Given the description of an element on the screen output the (x, y) to click on. 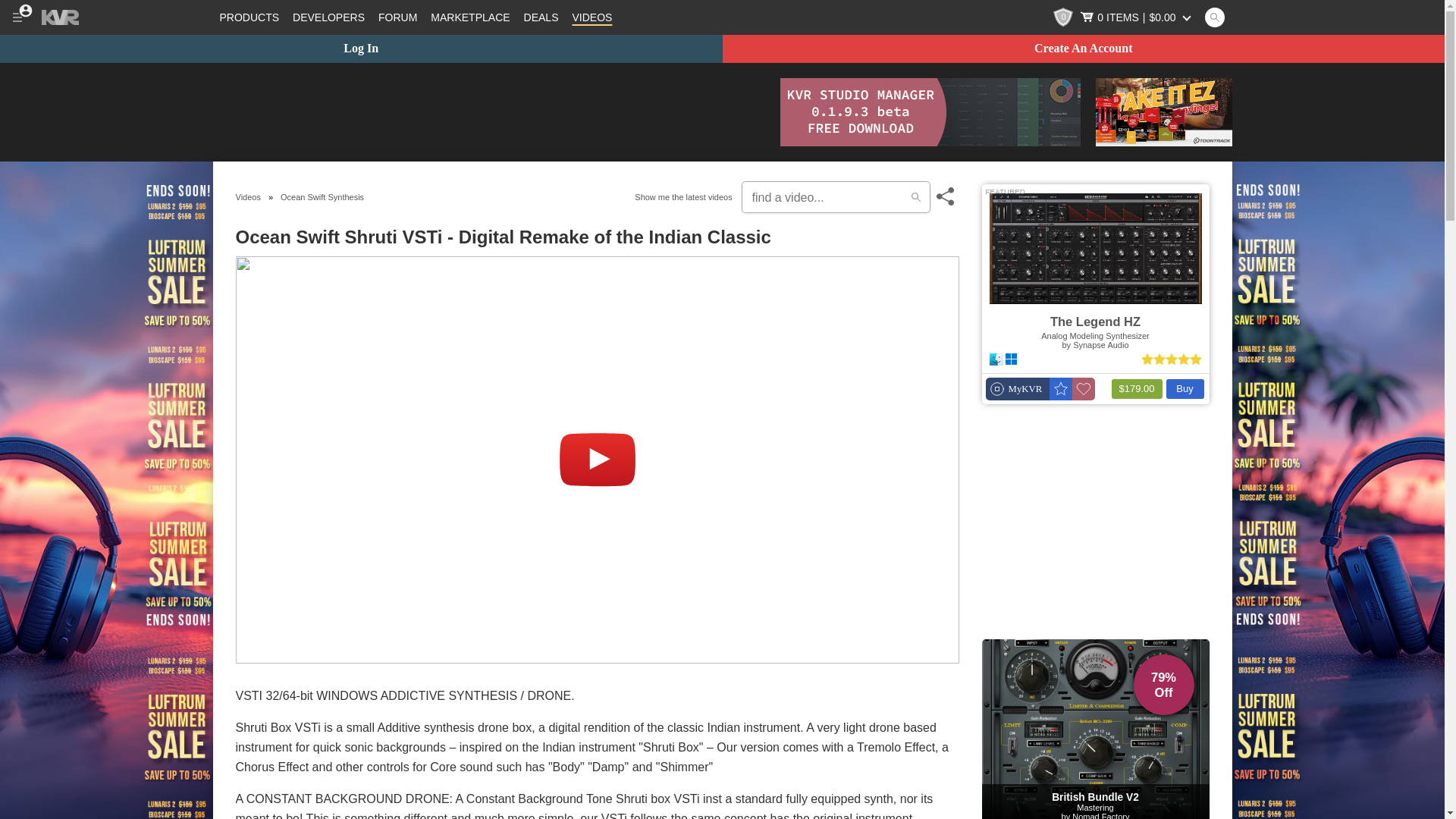
3rd party ad content (488, 111)
Toontrack - Take-It-EZ (1162, 111)
Share This (945, 196)
Cart (1136, 17)
